Given the description of an element on the screen output the (x, y) to click on. 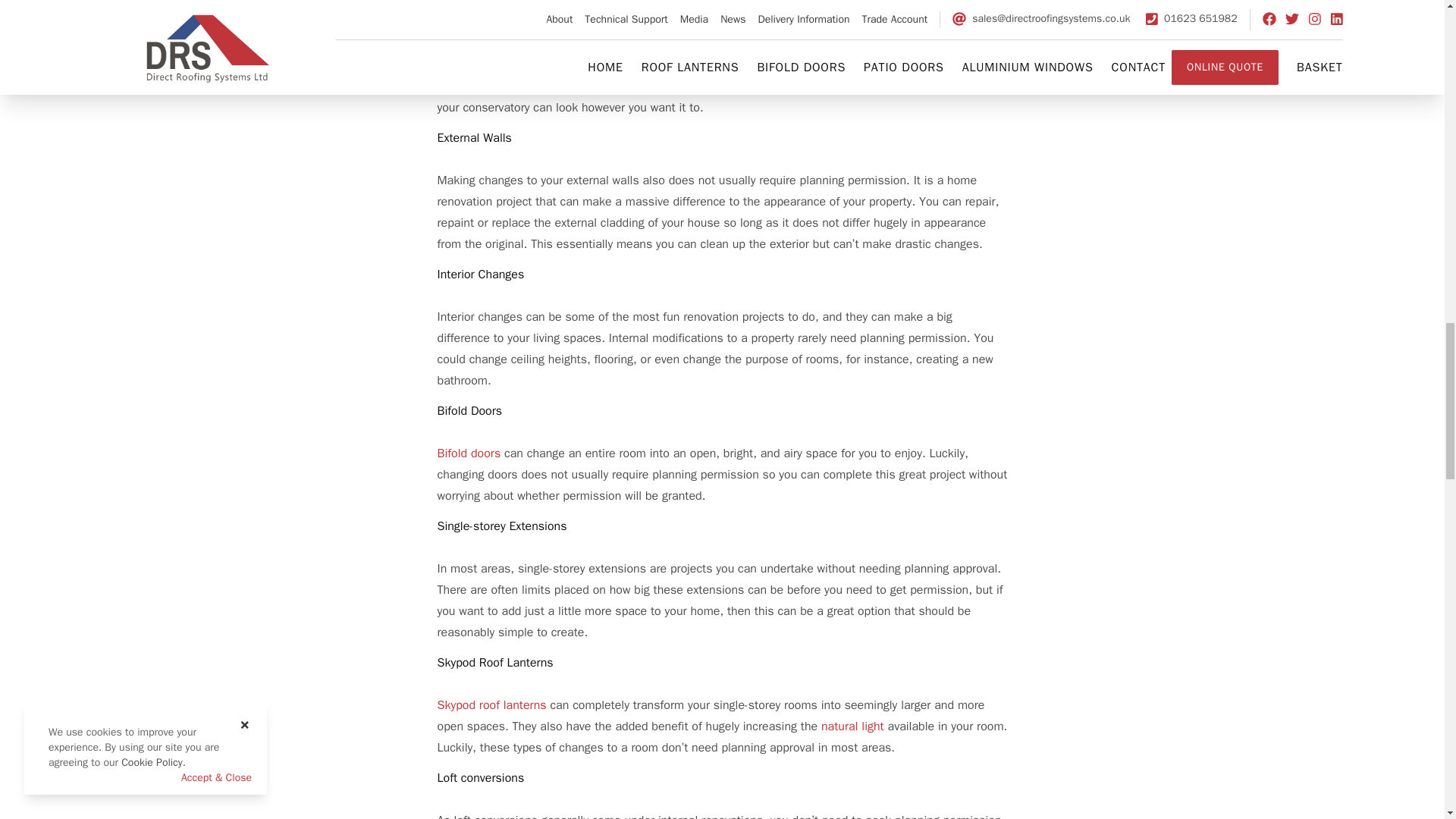
natural light (852, 726)
Bifold doors (468, 453)
Skypod roof lanterns (493, 705)
